Given the description of an element on the screen output the (x, y) to click on. 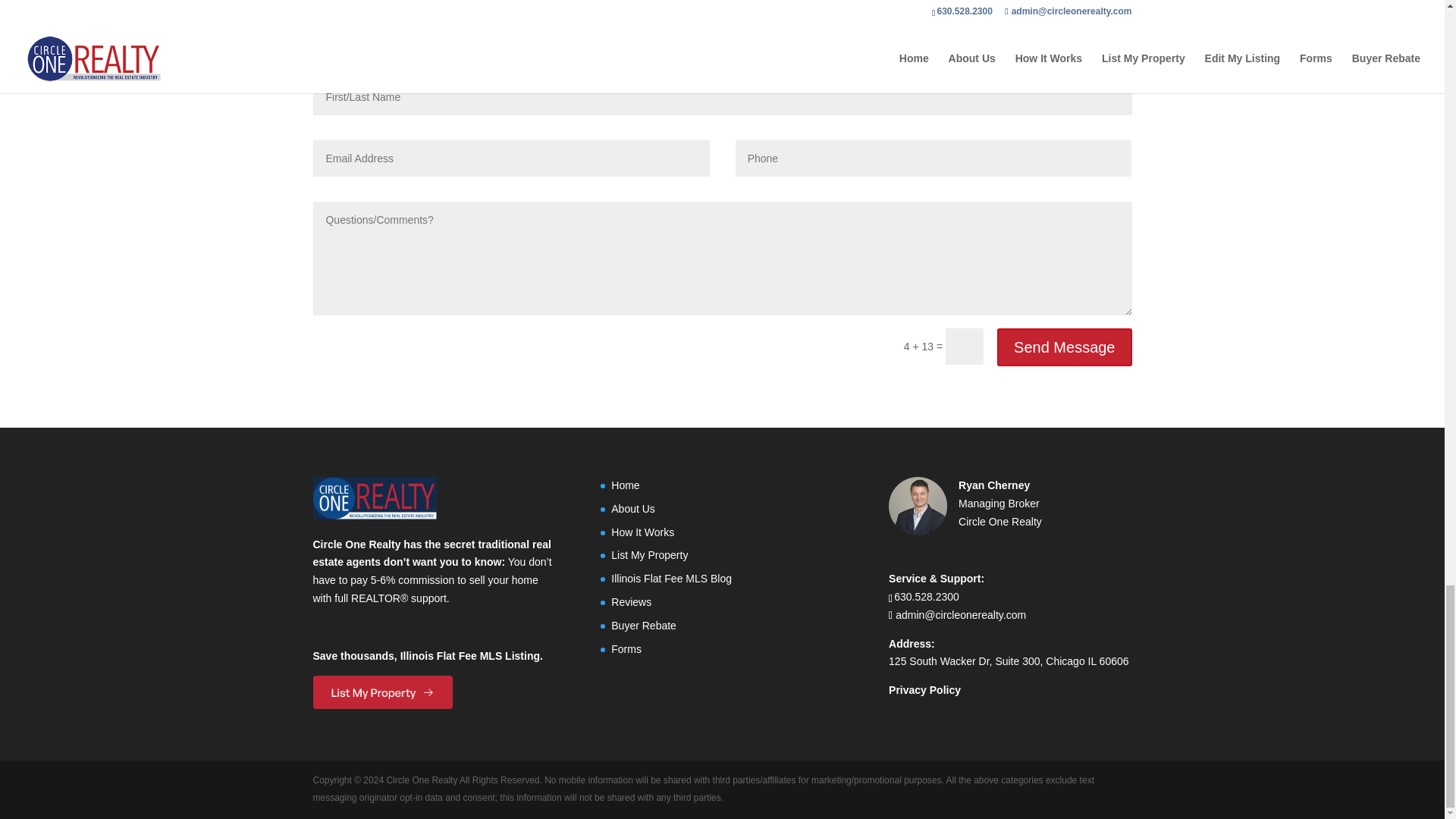
Forms (626, 648)
How It Works (642, 532)
Buyer Rebate (644, 625)
125 South Wacker Dr, Suite 300, Chicago IL 60606 (1008, 661)
About Us (633, 508)
Send Message (1064, 347)
Home (625, 485)
List My Property (649, 554)
Privacy Policy (924, 689)
Illinois Flat Fee MLS Blog (671, 578)
Ryan Cherney (993, 485)
Reviews (630, 602)
